Given the description of an element on the screen output the (x, y) to click on. 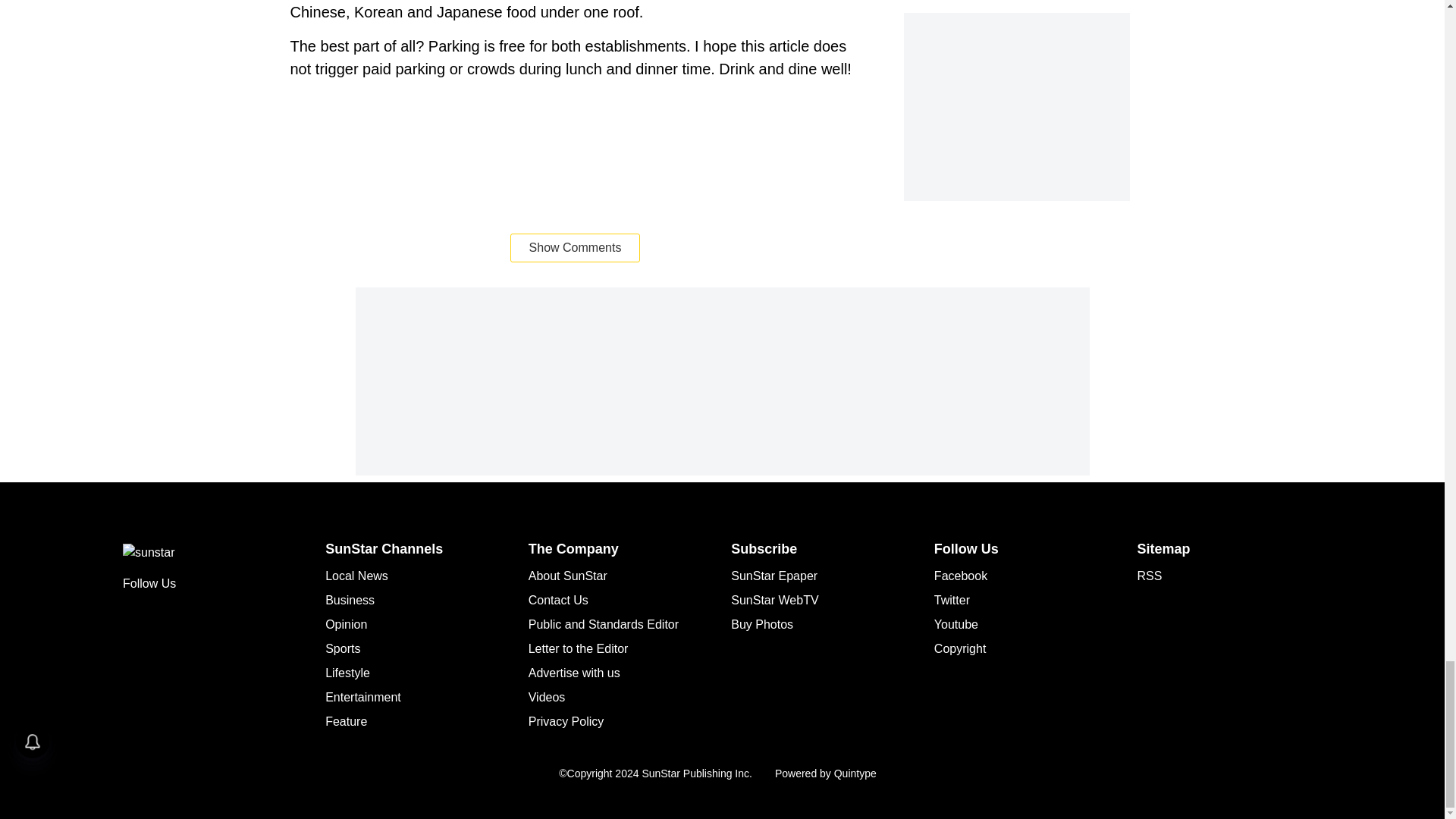
Show Comments (575, 247)
